Given the description of an element on the screen output the (x, y) to click on. 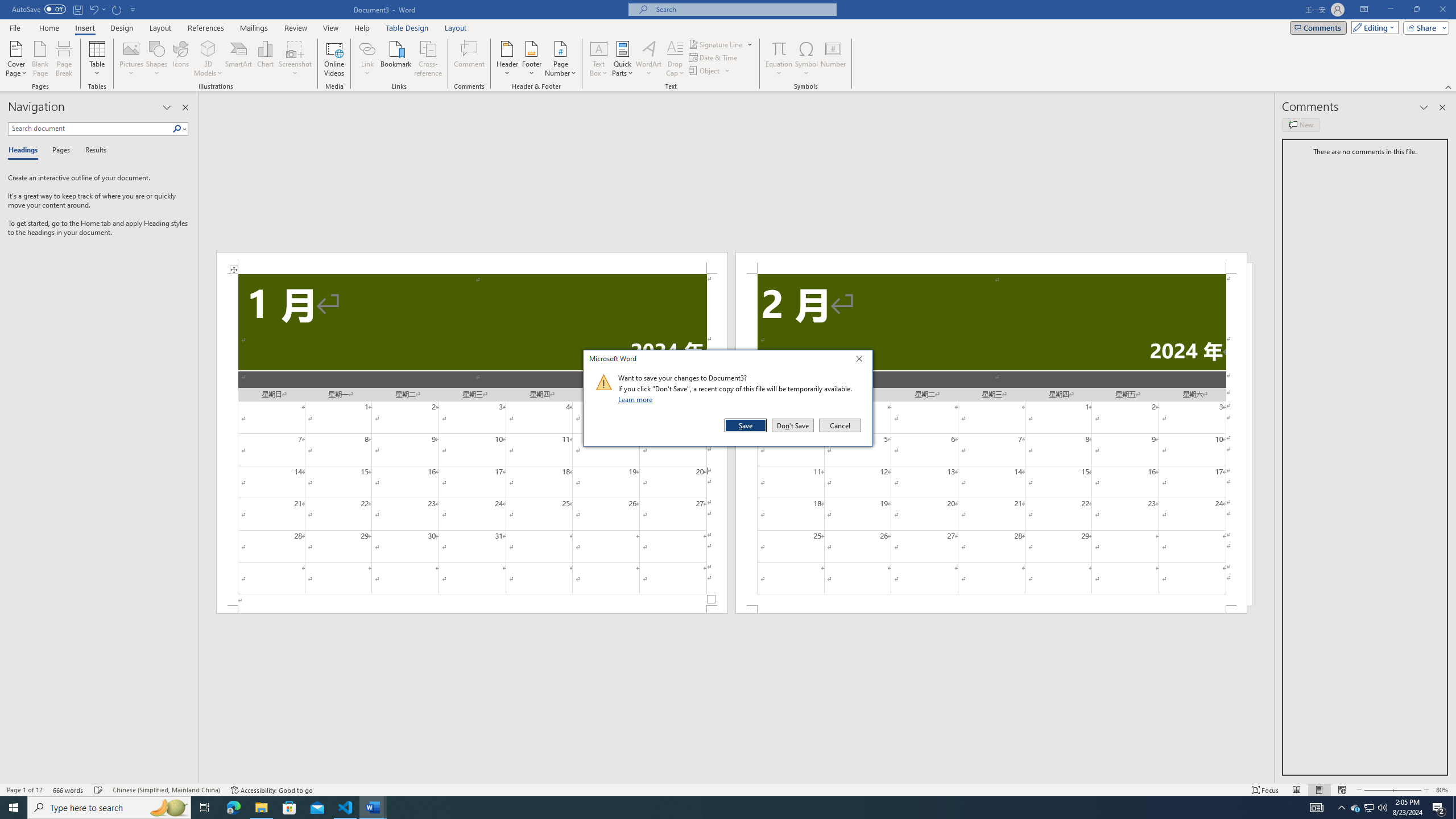
Pictures (131, 58)
Page Number (560, 58)
Search document (89, 128)
Close pane (185, 107)
Design (122, 28)
Search (179, 128)
Web Layout (1342, 790)
AutomationID: 4105 (1316, 807)
3D Models (208, 48)
Microsoft search (742, 9)
Cancel (839, 425)
Running applications (717, 807)
